Given the description of an element on the screen output the (x, y) to click on. 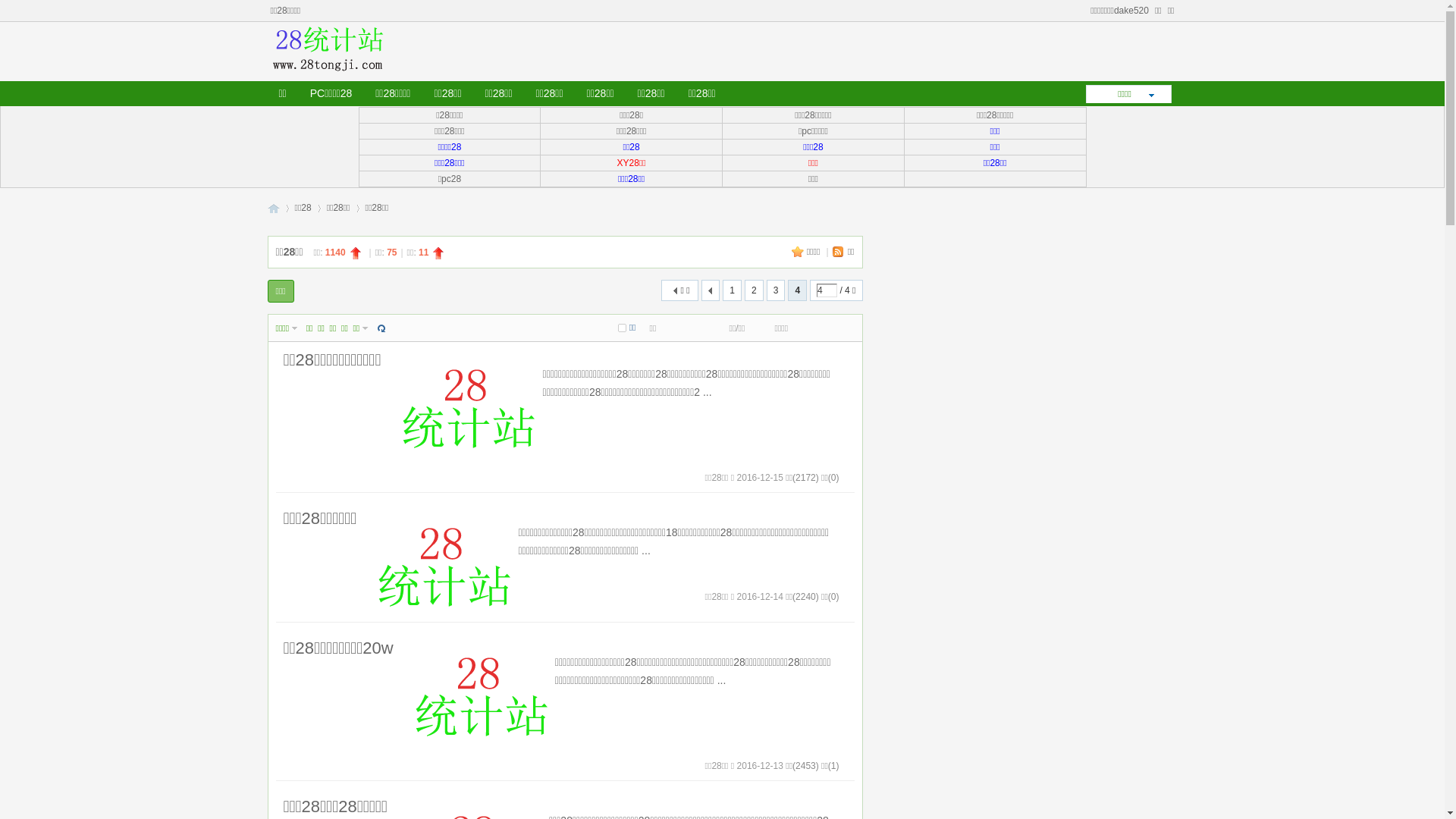
   Element type: text (710, 290)
2 Element type: text (753, 290)
3 Element type: text (775, 290)
1 Element type: text (731, 290)
